Given the description of an element on the screen output the (x, y) to click on. 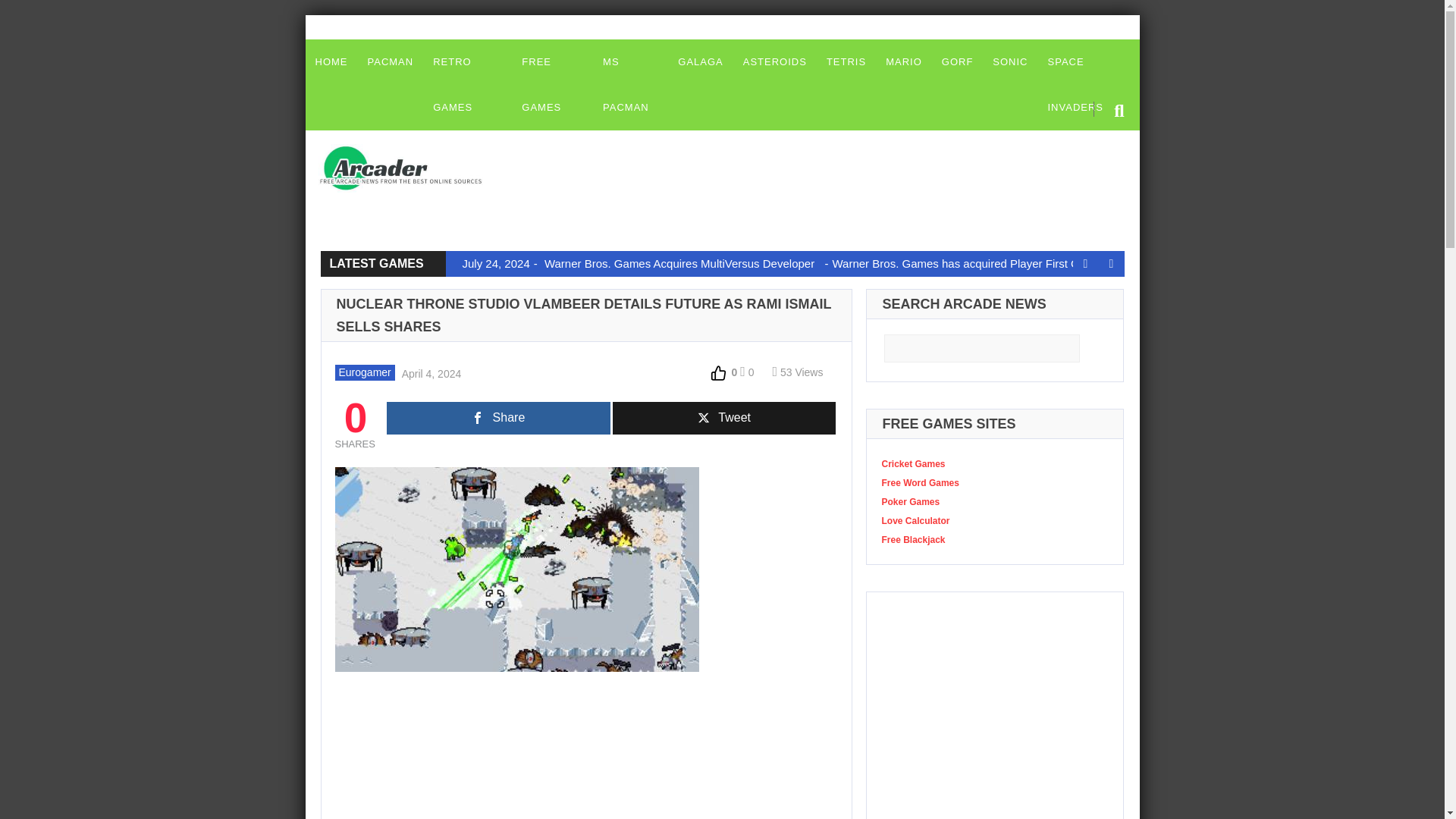
0 (746, 372)
MS PACMAN (630, 84)
GALAGA (700, 62)
0 (724, 372)
GORF (957, 62)
Arcader News (413, 168)
Share (498, 418)
SPACE INVADERS (1087, 84)
5:45 pm (429, 372)
Eurogamer (364, 372)
SONIC (1009, 62)
Advertisement (783, 165)
TETRIS (846, 62)
MARIO (903, 62)
